Given the description of an element on the screen output the (x, y) to click on. 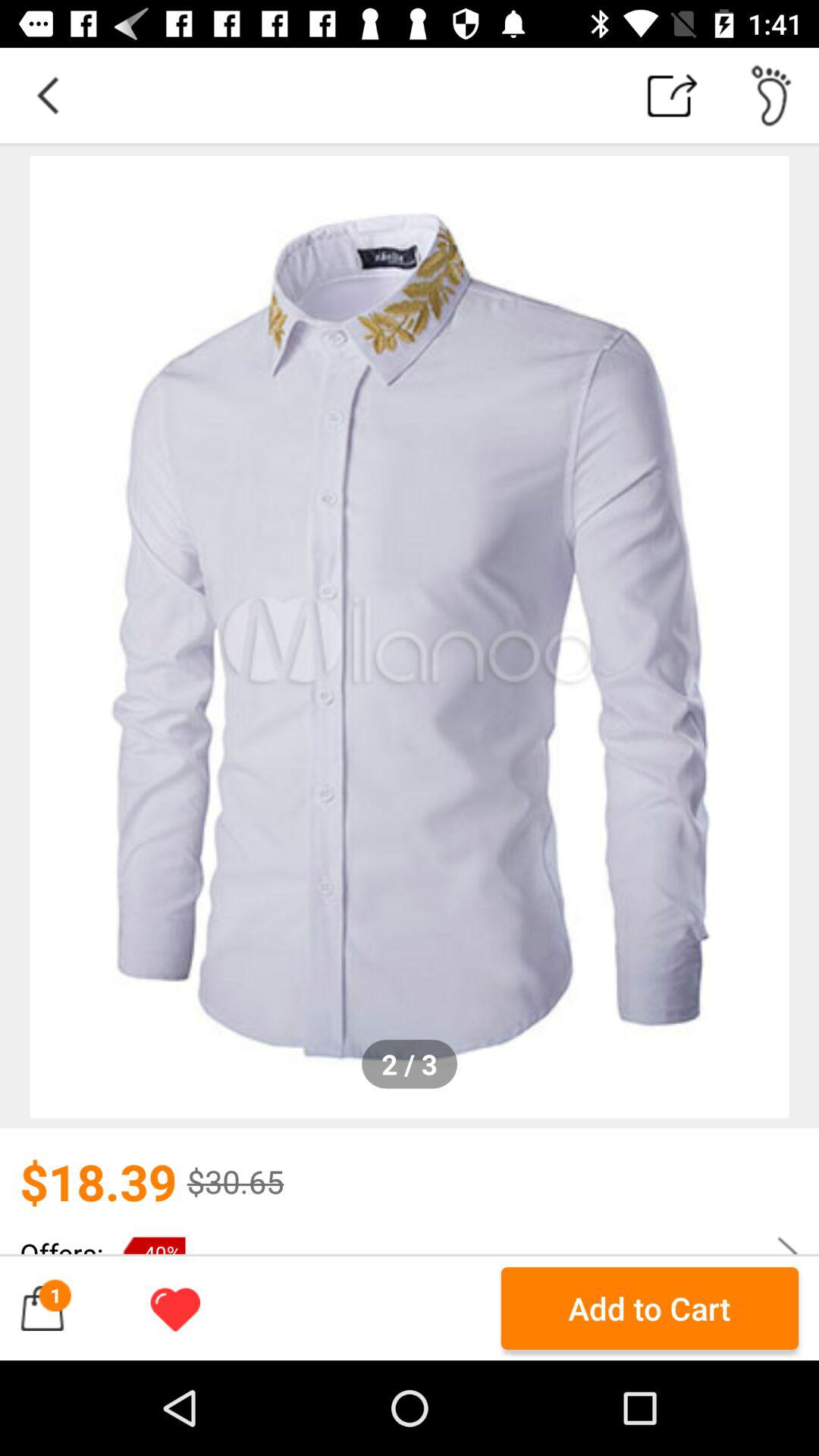
view picture (409, 636)
